Given the description of an element on the screen output the (x, y) to click on. 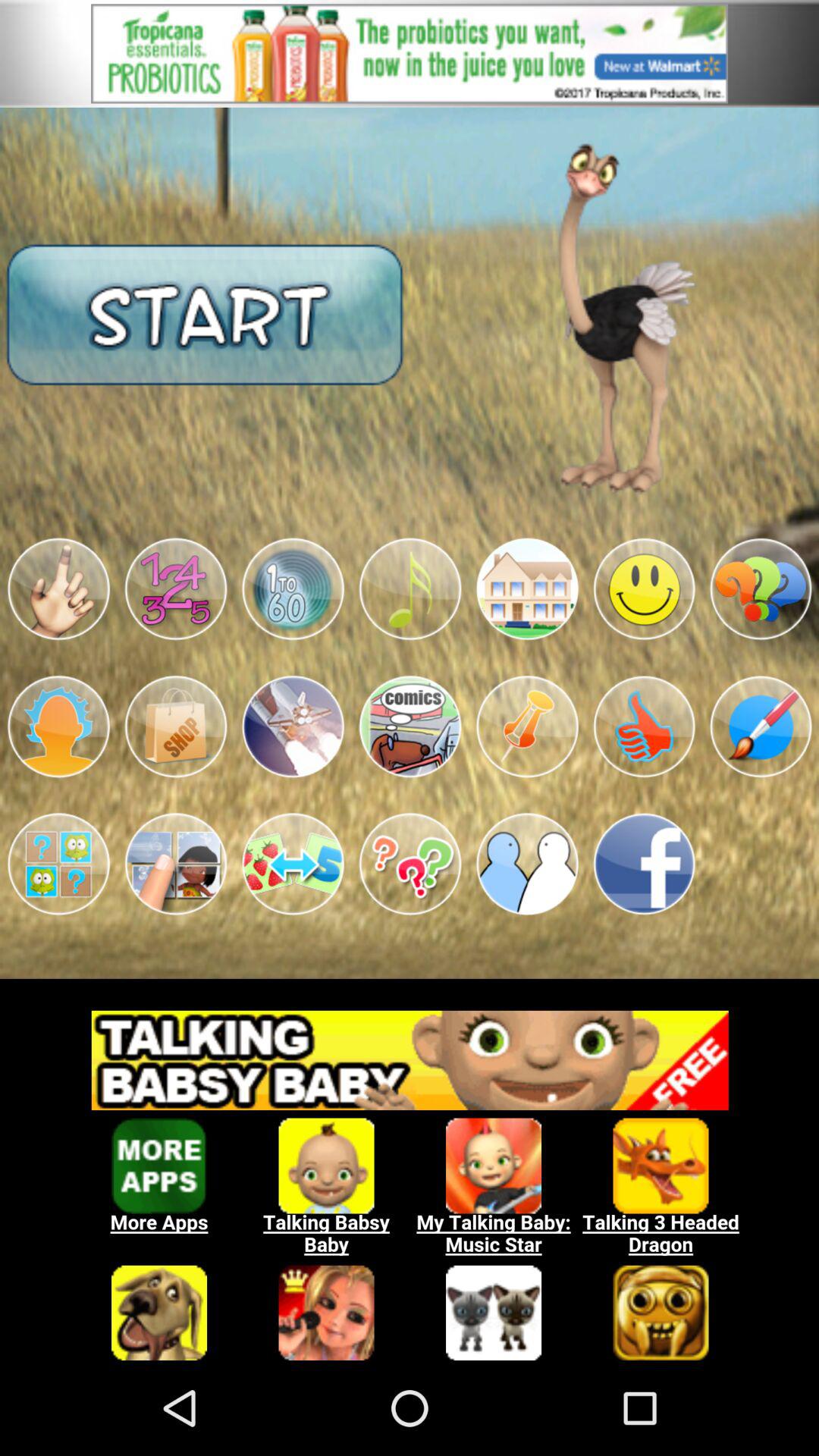
just emoji (58, 589)
